Given the description of an element on the screen output the (x, y) to click on. 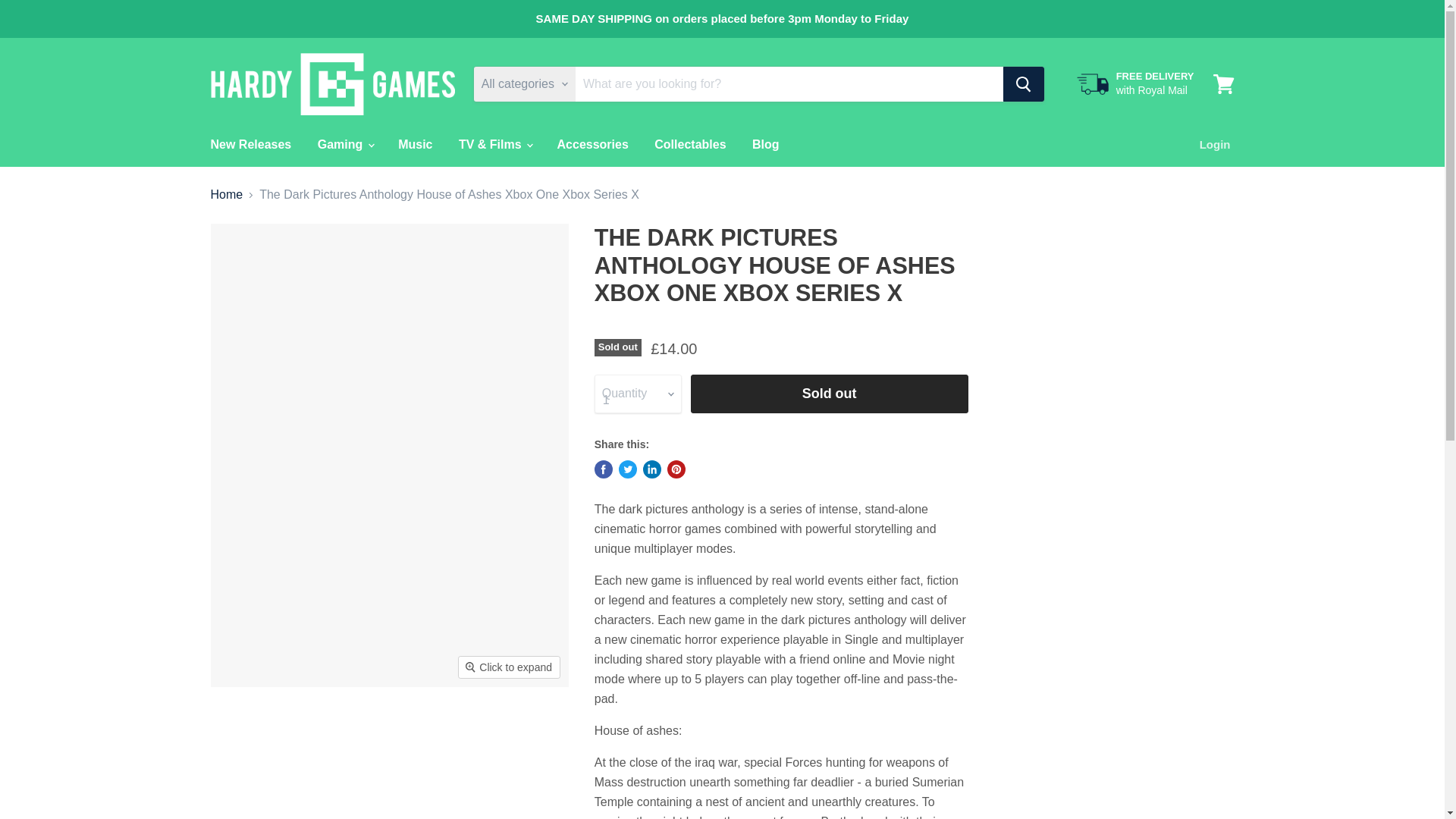
Gaming (344, 144)
Collectables (689, 144)
View cart (1223, 83)
Blog (765, 144)
Music (415, 144)
Accessories (593, 144)
New Releases (250, 144)
Login (1215, 144)
